Given the description of an element on the screen output the (x, y) to click on. 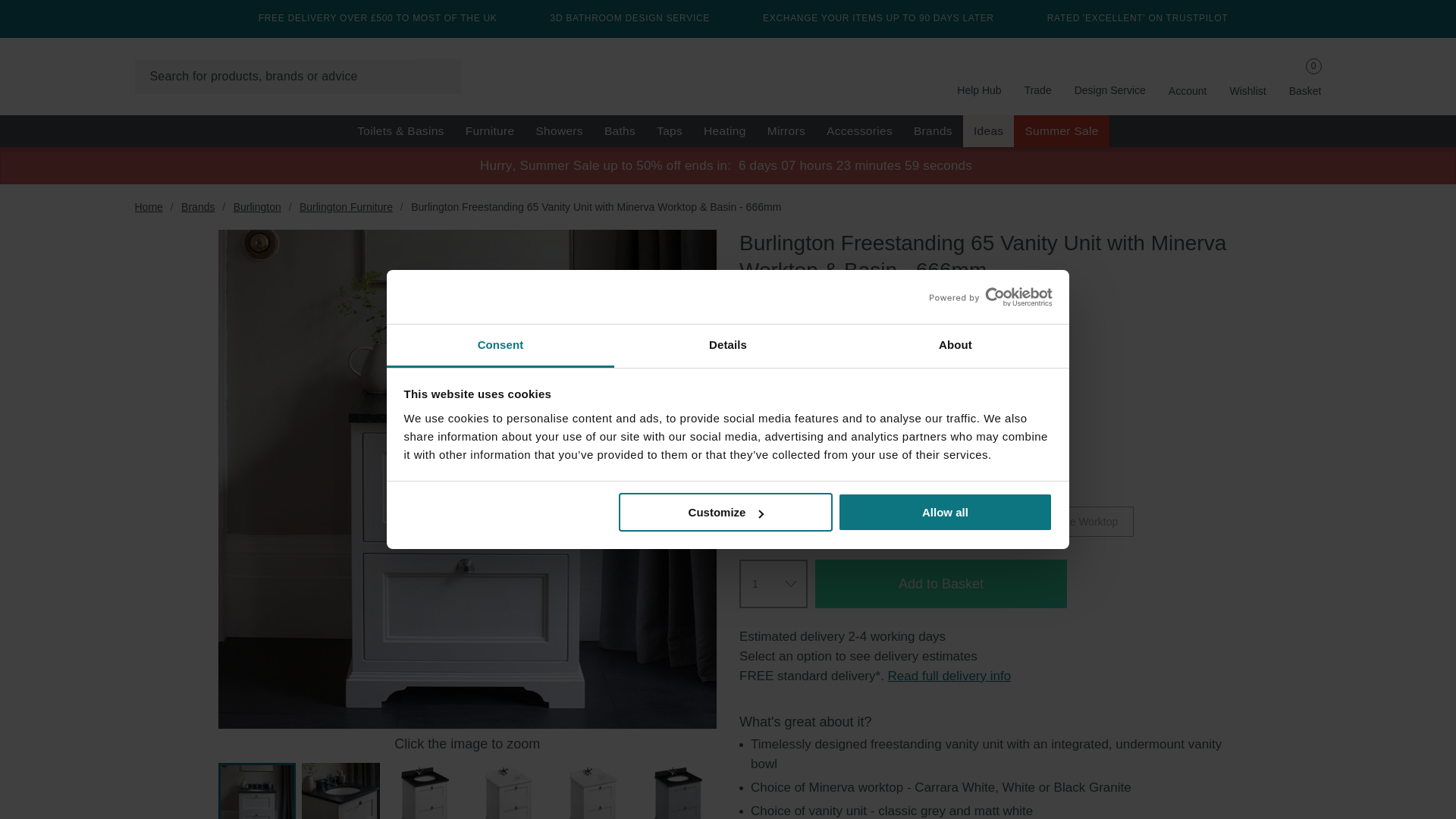
Consent (500, 345)
Write one (937, 298)
About (954, 345)
Details (727, 345)
Read full delivery info (949, 676)
